Given the description of an element on the screen output the (x, y) to click on. 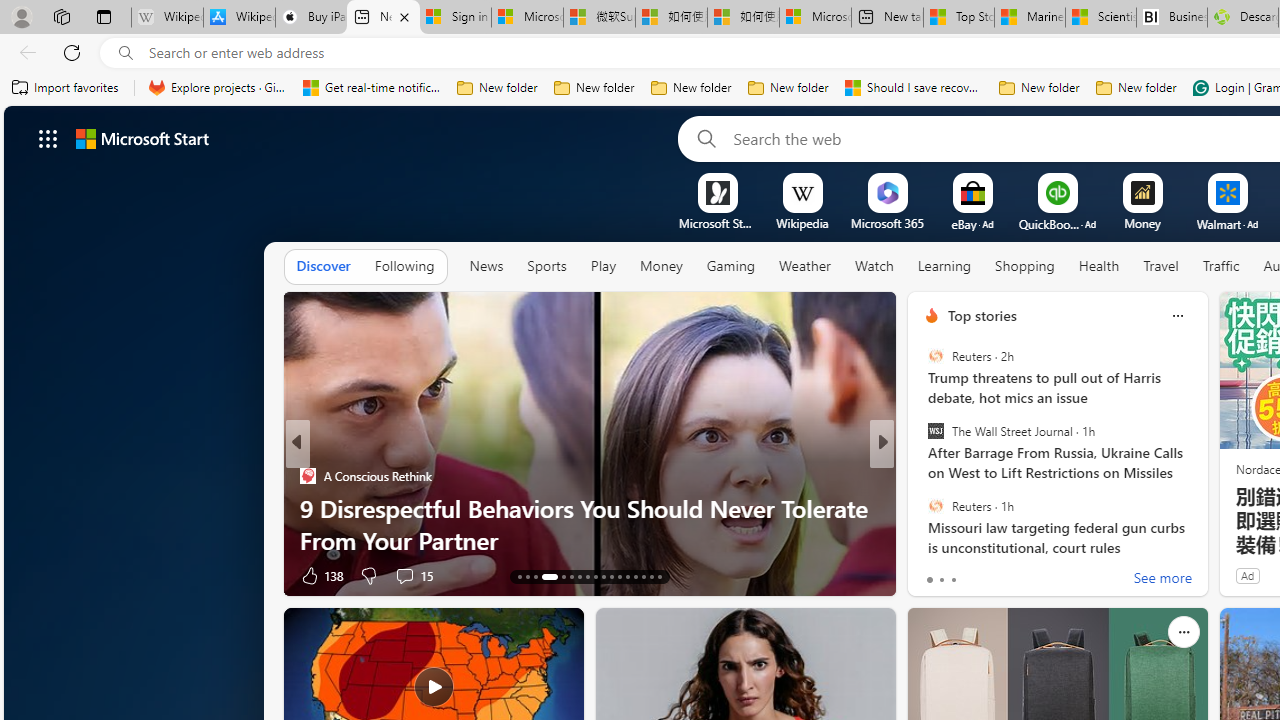
The Amazing Times (923, 475)
49 Like (934, 574)
View comments 1k Comment (1021, 574)
View comments 2 Comment (1014, 575)
AutomationID: tab-24 (619, 576)
Business Insider (307, 475)
Million Dollar Sense (923, 507)
tab-2 (953, 579)
The Wall Street Journal (935, 431)
198 Like (320, 574)
